Given the description of an element on the screen output the (x, y) to click on. 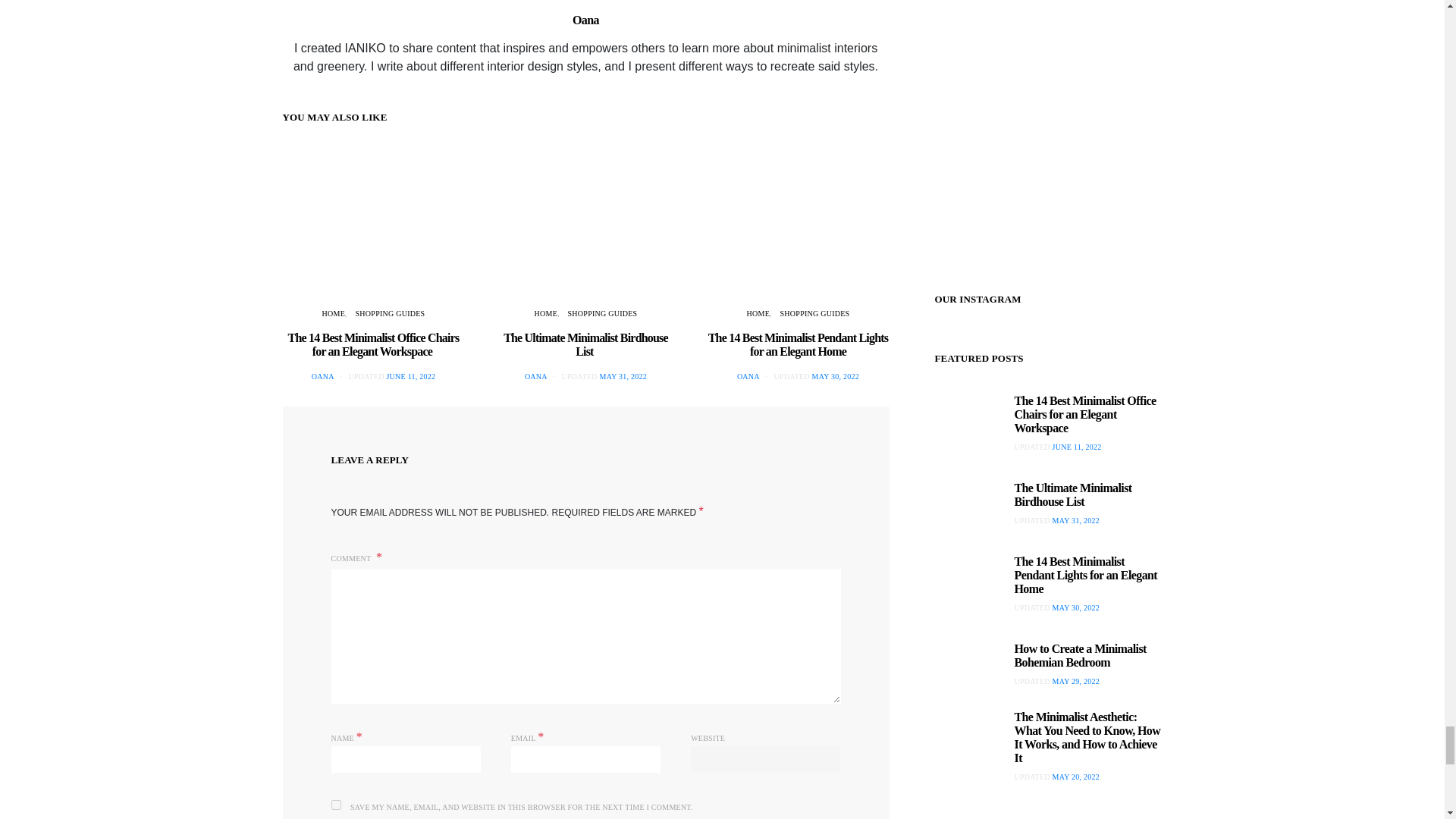
yes (335, 804)
